Given the description of an element on the screen output the (x, y) to click on. 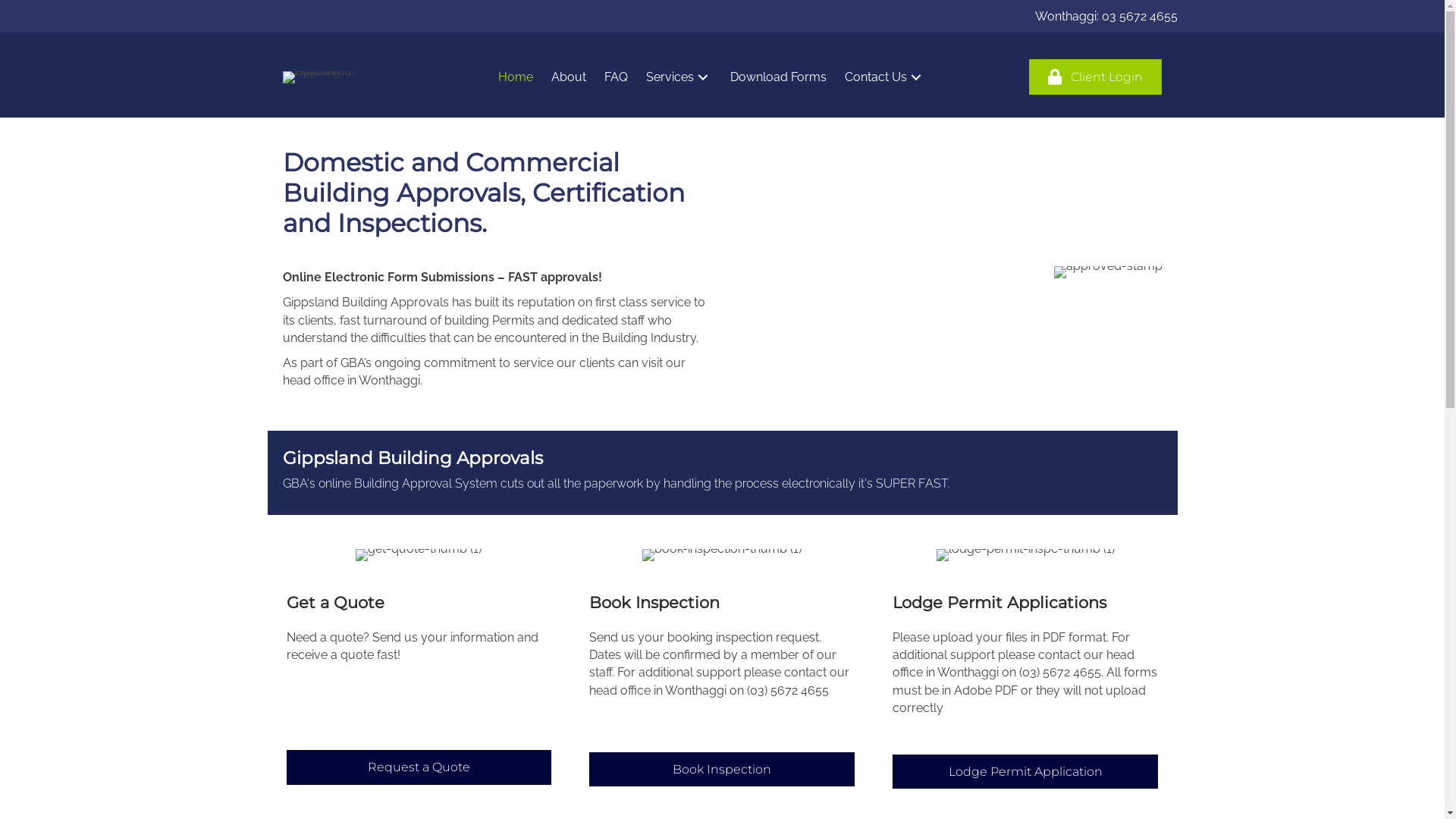
gbas-logo-small Element type: hover (338, 77)
Download Forms Element type: text (778, 76)
Contact Us Element type: text (884, 76)
Home Element type: text (515, 76)
approved-stamp Element type: hover (1108, 272)
Lodge Permit Application Element type: text (1024, 771)
Request a Quote Element type: text (419, 766)
About Element type: text (568, 76)
Book Inspection Element type: text (721, 769)
FAQ Element type: text (615, 76)
Services Element type: text (678, 76)
get-quote-thumb (1) Element type: hover (418, 555)
lodge-permit-inspc-thumb (1) Element type: hover (1025, 555)
Client Login Element type: text (1095, 76)
book-inspection-thumb (1) Element type: hover (721, 555)
